Given the description of an element on the screen output the (x, y) to click on. 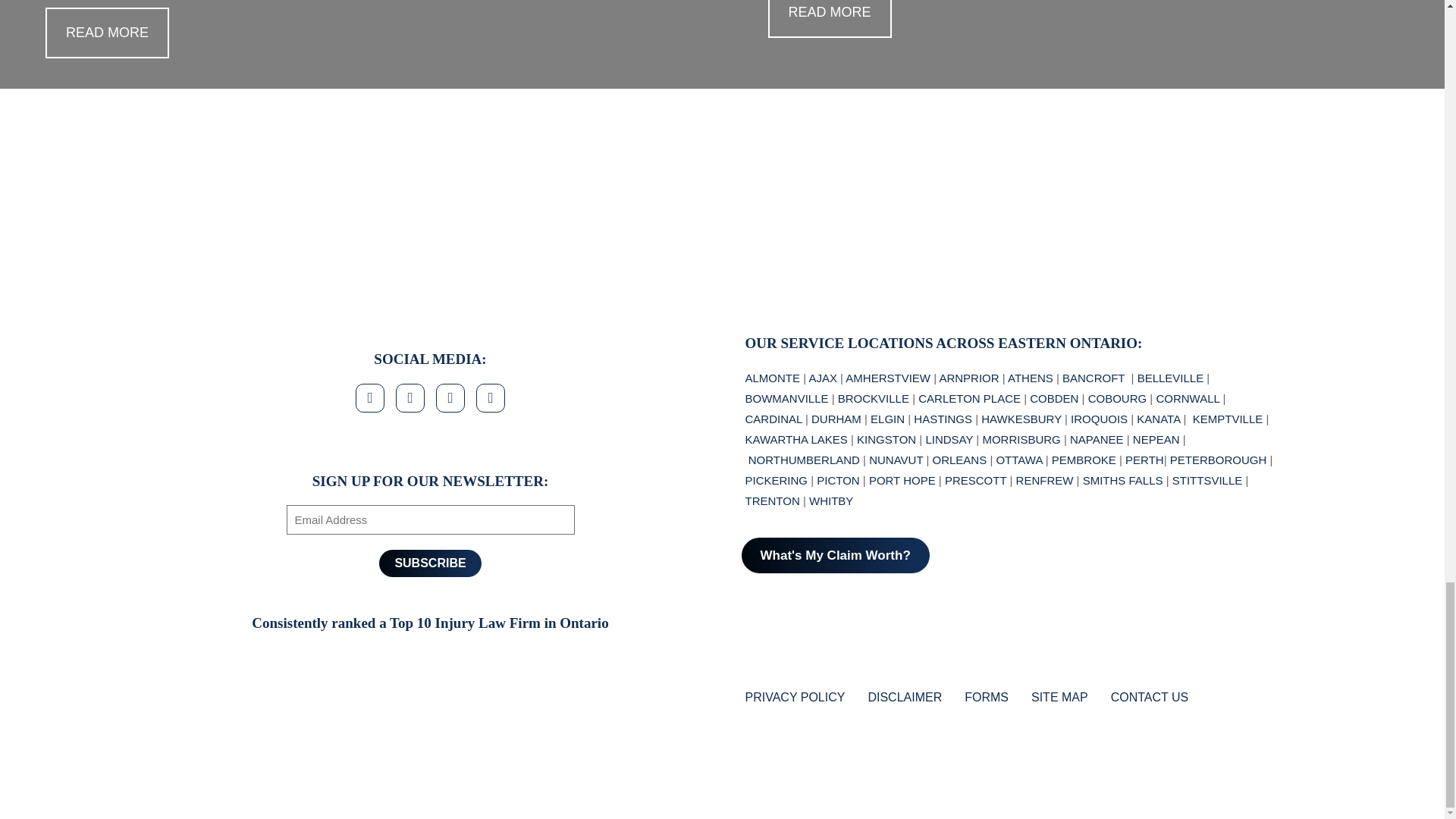
Subscribe (429, 563)
